Given the description of an element on the screen output the (x, y) to click on. 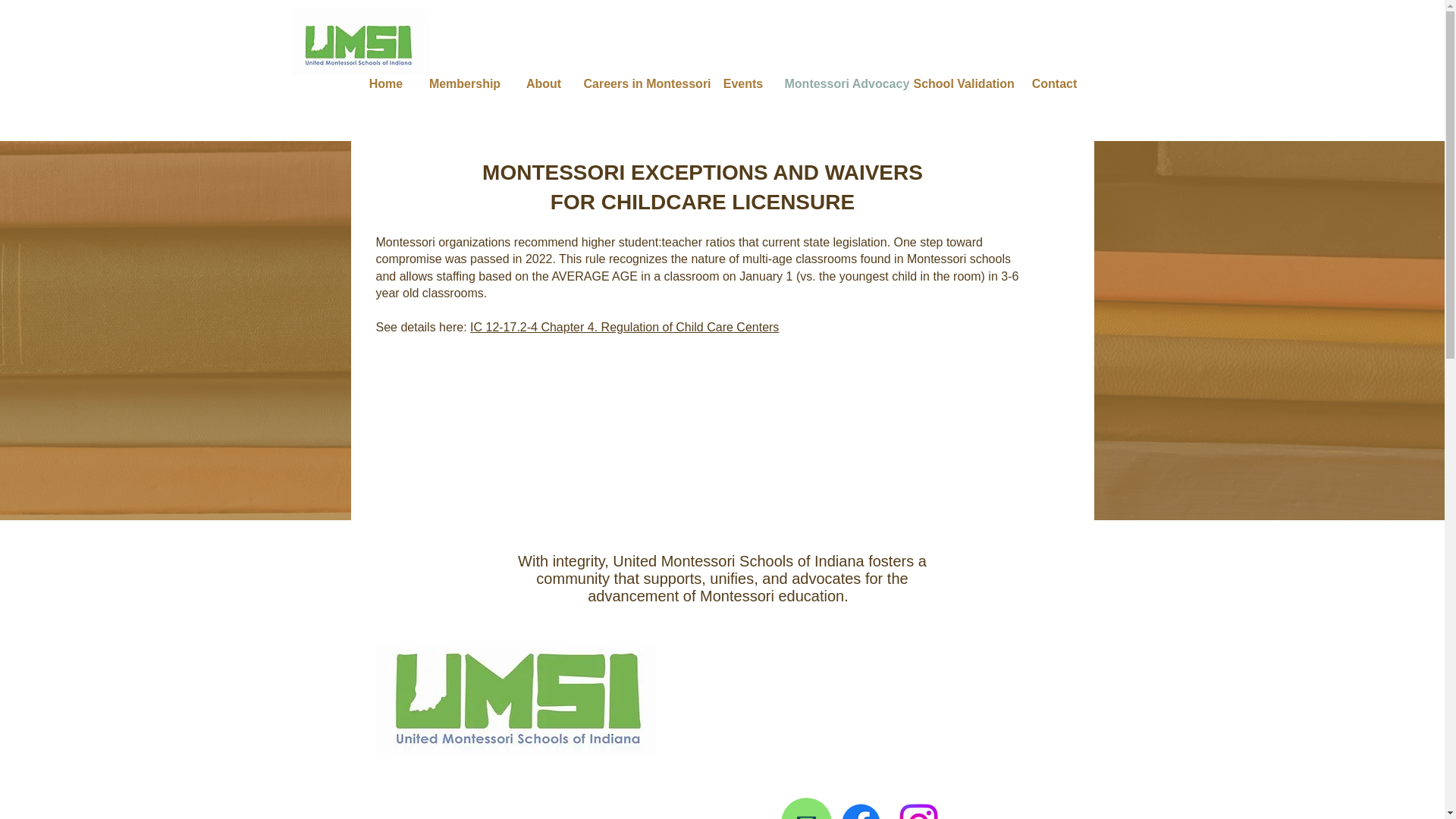
Montessori Advocacy (840, 83)
IC 12-17.2-4 Chapter 4. Regulation of Child Care Centers (624, 327)
School Validation (961, 83)
Careers in Montessori (643, 83)
